Given the description of an element on the screen output the (x, y) to click on. 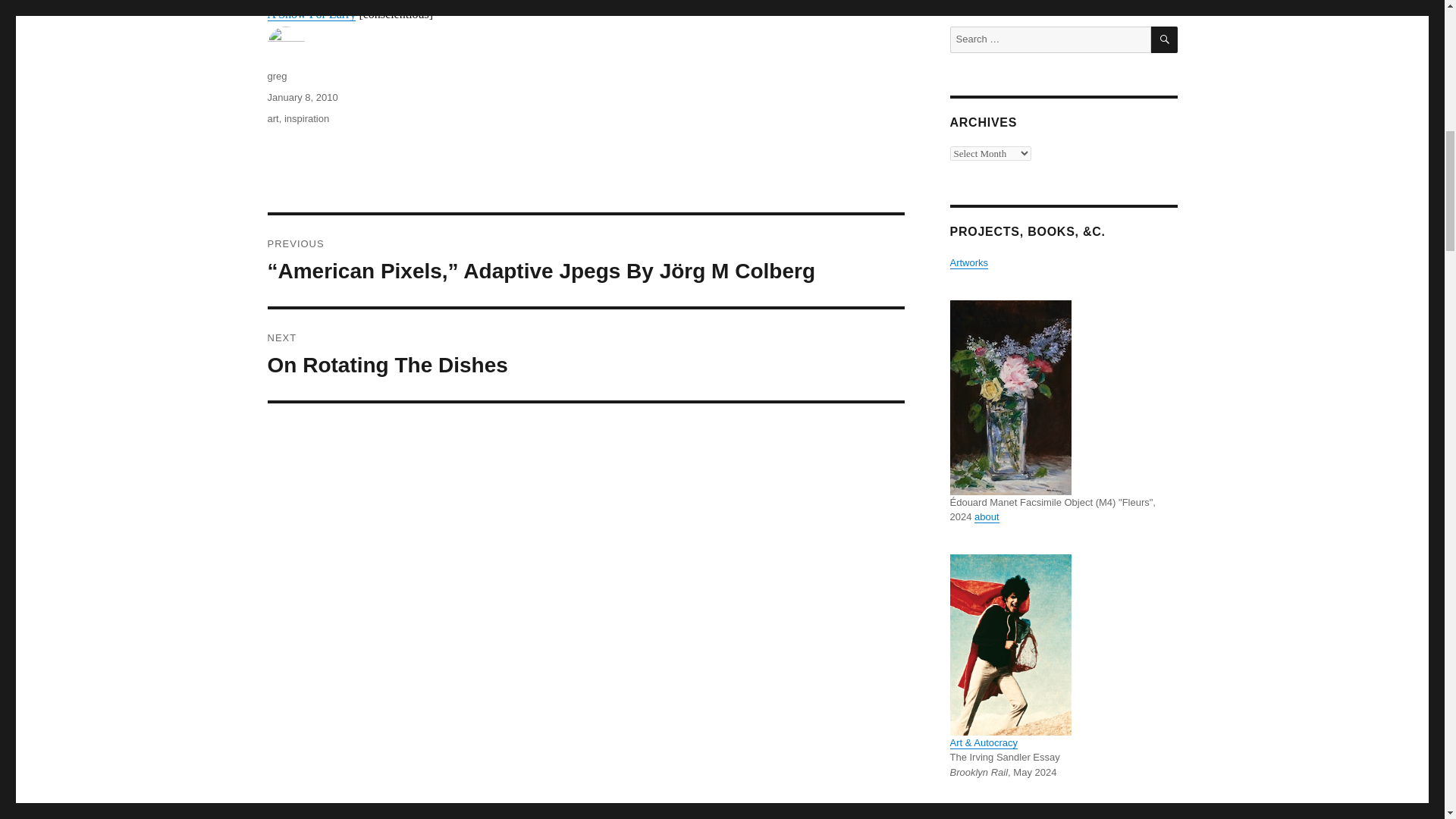
Artworks (968, 262)
art (272, 118)
January 8, 2010 (301, 97)
SEARCH (1164, 39)
greg (585, 354)
inspiration (276, 75)
about (306, 118)
A Show For Larry (986, 516)
